Given the description of an element on the screen output the (x, y) to click on. 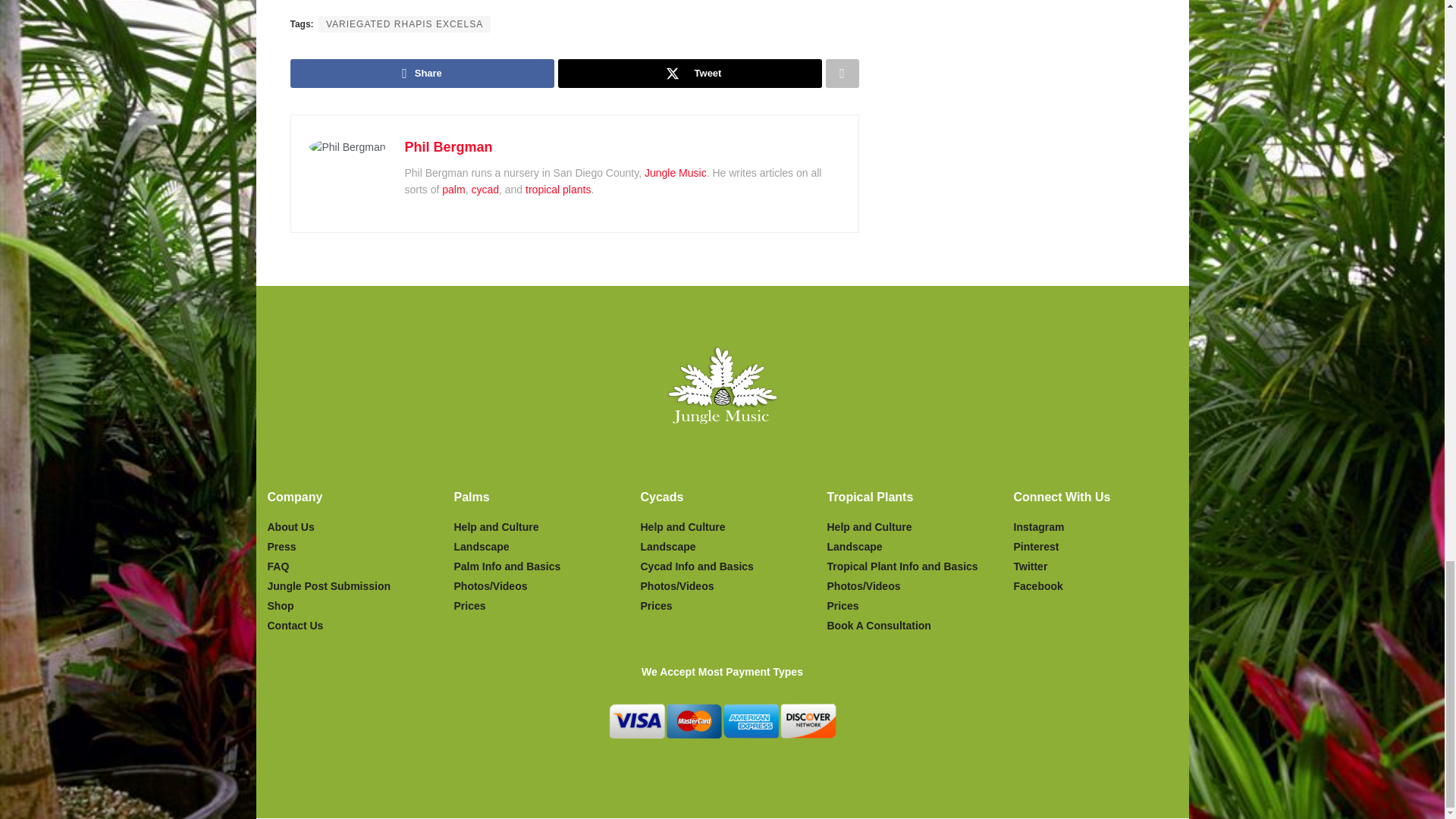
junglemusic-145-logo-1 (721, 385)
credit cards (721, 720)
